Given the description of an element on the screen output the (x, y) to click on. 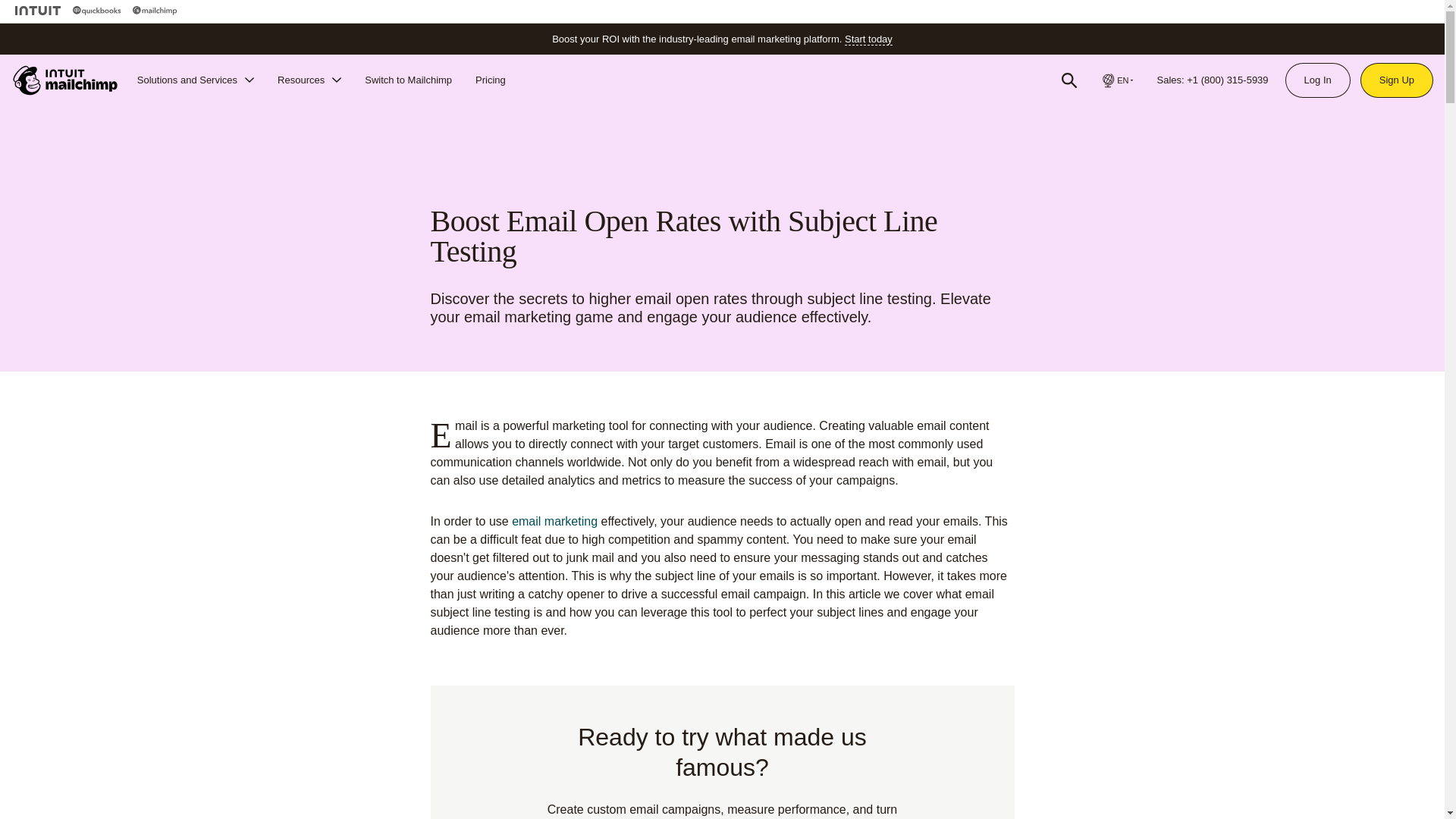
Log In (1317, 80)
Sign Up (1396, 80)
email marketing (554, 521)
Search (1069, 80)
Resources (308, 79)
Start today (868, 39)
Pricing (490, 79)
Switch to Mailchimp (408, 79)
Solutions and Services (195, 79)
